Given the description of an element on the screen output the (x, y) to click on. 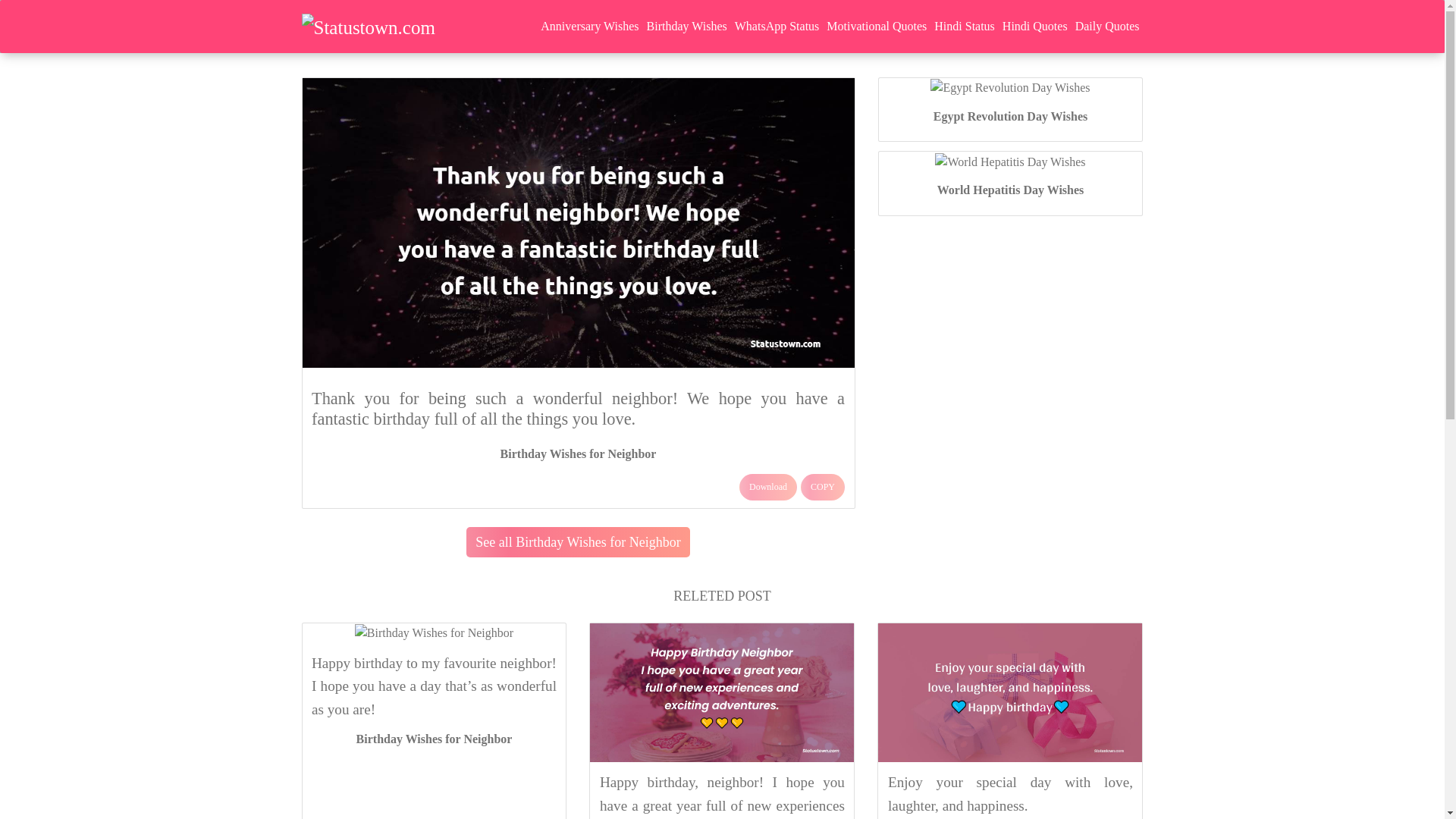
Egypt Revolution Day Wishes (1010, 115)
Enjoy your special day with love, laughter, and happiness. (1010, 793)
Motivational Quotes (876, 26)
Birthday Wishes (686, 26)
WhatsApp Status (777, 26)
Hindi Status (964, 26)
See all Birthday Wishes for Neighbor (576, 542)
Birthday Wishes for Neighbor (578, 453)
Birthday Wishes for Neighbor (434, 738)
Anniversary Wishes (589, 26)
World Hepatitis Day Wishes (1010, 189)
Egypt Revolution Day Wishes (1010, 115)
World Hepatitis Day Wishes (1010, 189)
